Given the description of an element on the screen output the (x, y) to click on. 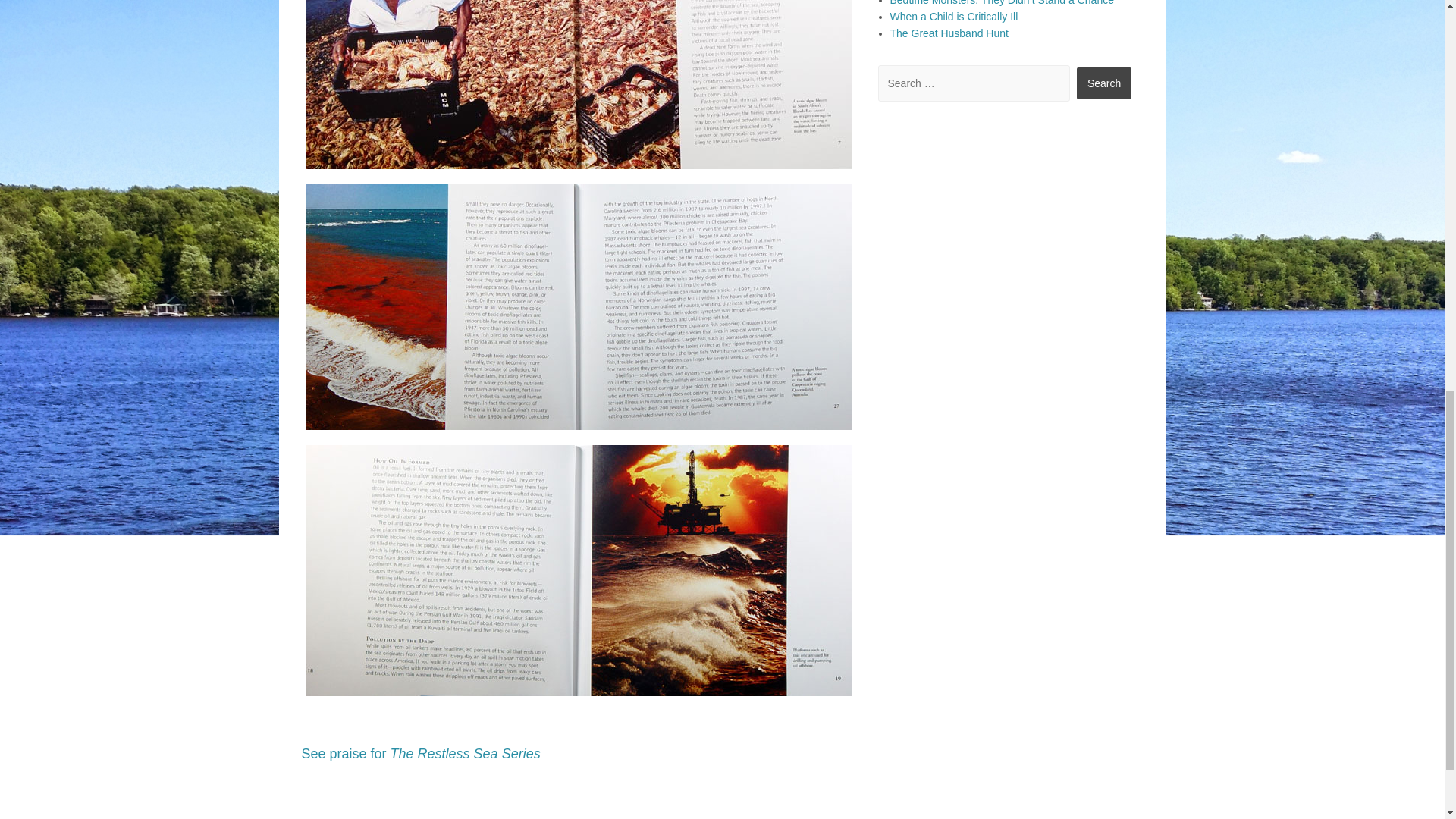
Search (1104, 83)
See praise for The Restless Sea Series (420, 753)
The Great Husband Hunt (949, 33)
Search (1104, 83)
Search (1104, 83)
When a Child is Critically Ill (953, 16)
